Given the description of an element on the screen output the (x, y) to click on. 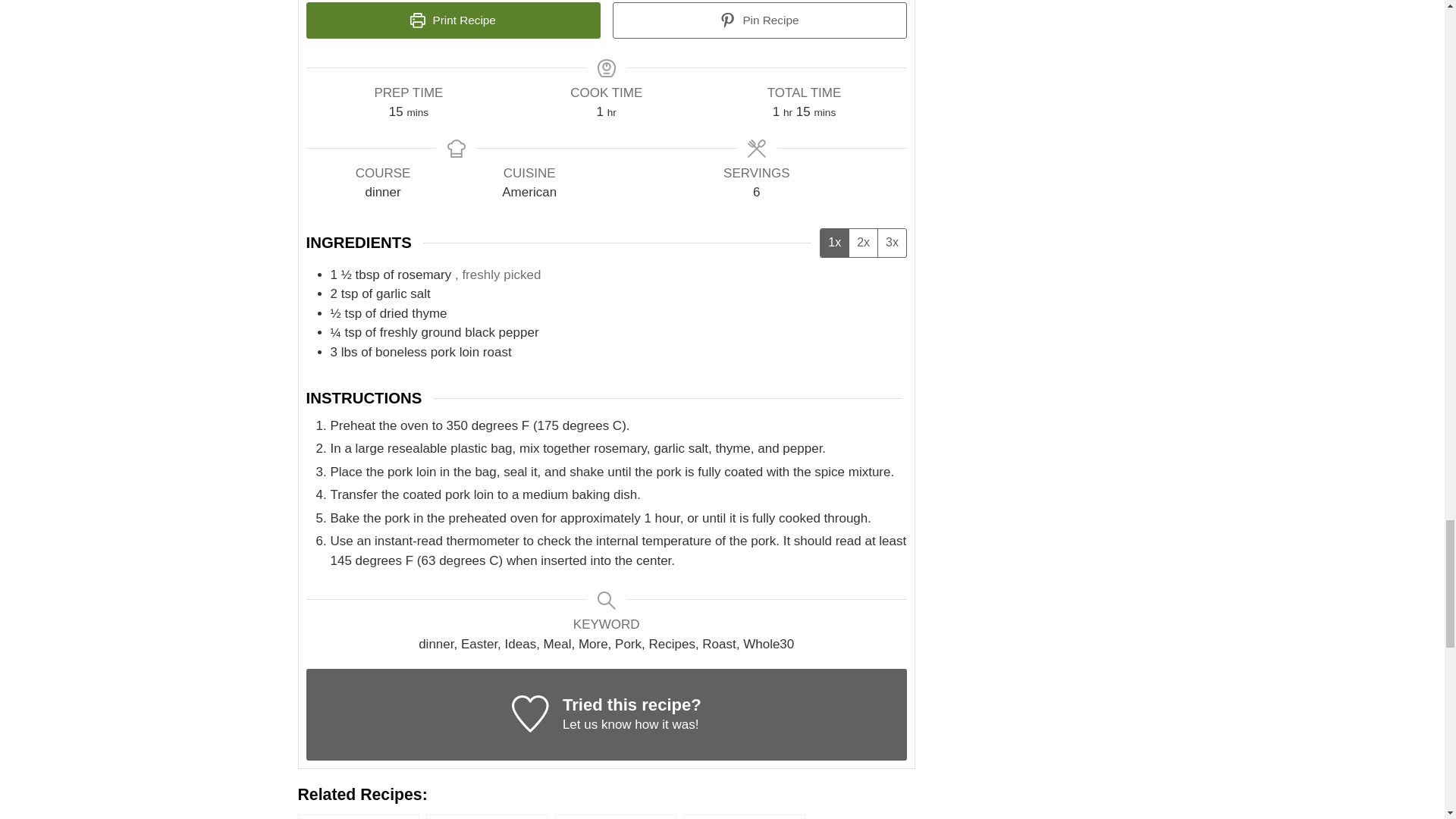
Print Recipe (452, 20)
chicken (744, 816)
International (358, 816)
Assorted (486, 816)
Pin Recipe (759, 20)
International (358, 816)
Meal (615, 816)
Let us know (596, 724)
chicken (744, 816)
Assorted (486, 816)
1x (834, 243)
3x (891, 243)
Meal (615, 816)
2x (862, 243)
